Given the description of an element on the screen output the (x, y) to click on. 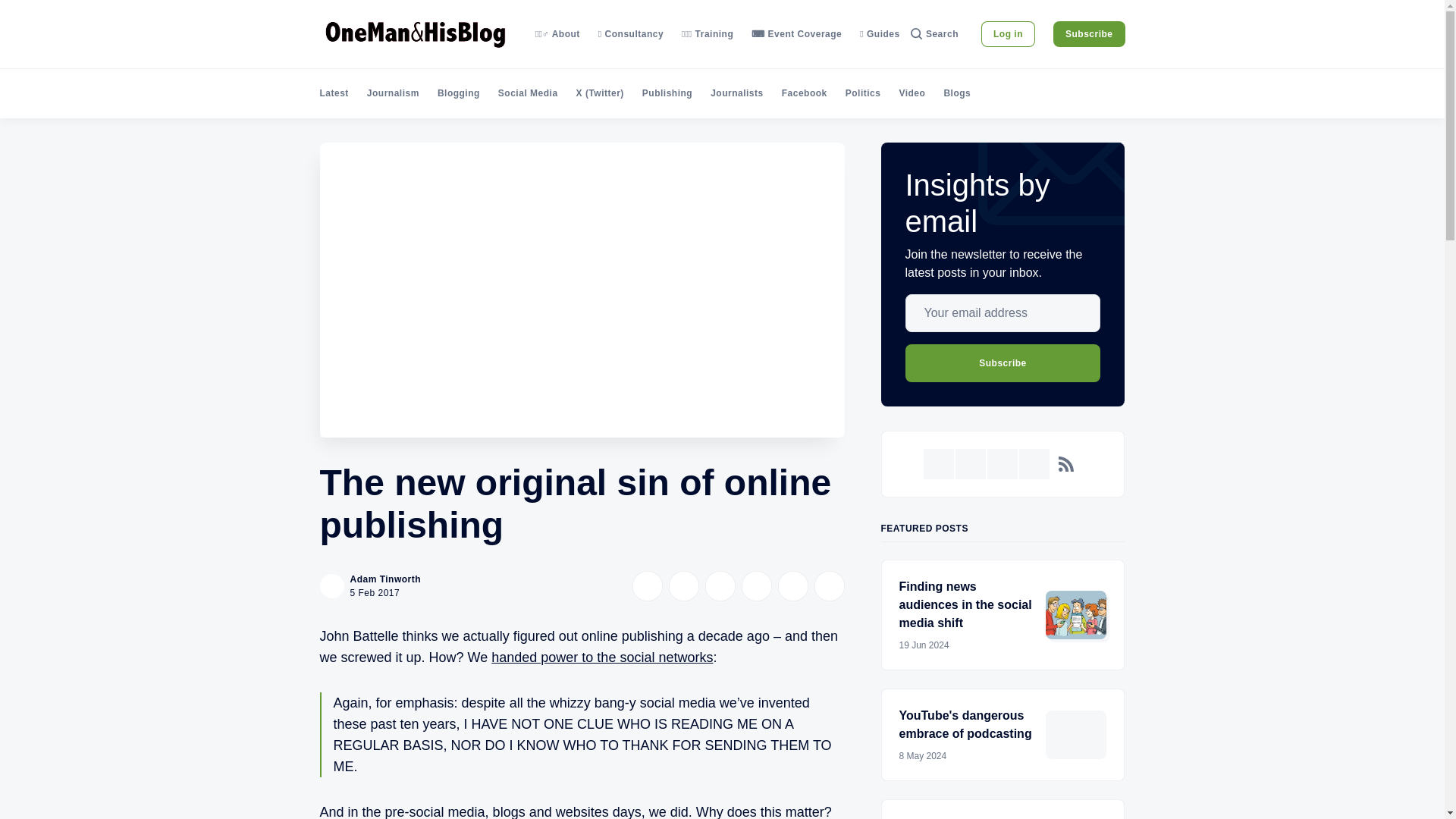
Adam Tinworth (386, 579)
Journalists (736, 92)
handed power to the social networks (602, 657)
Log in (1008, 33)
Blogging (459, 92)
Politics (862, 92)
Share on Twitter (646, 585)
Social Media (527, 92)
Share on Pinterest (756, 585)
Search (933, 33)
Journalism (392, 92)
Copy link (828, 585)
Share on Facebook (683, 585)
Facebook (804, 92)
Latest (334, 92)
